Given the description of an element on the screen output the (x, y) to click on. 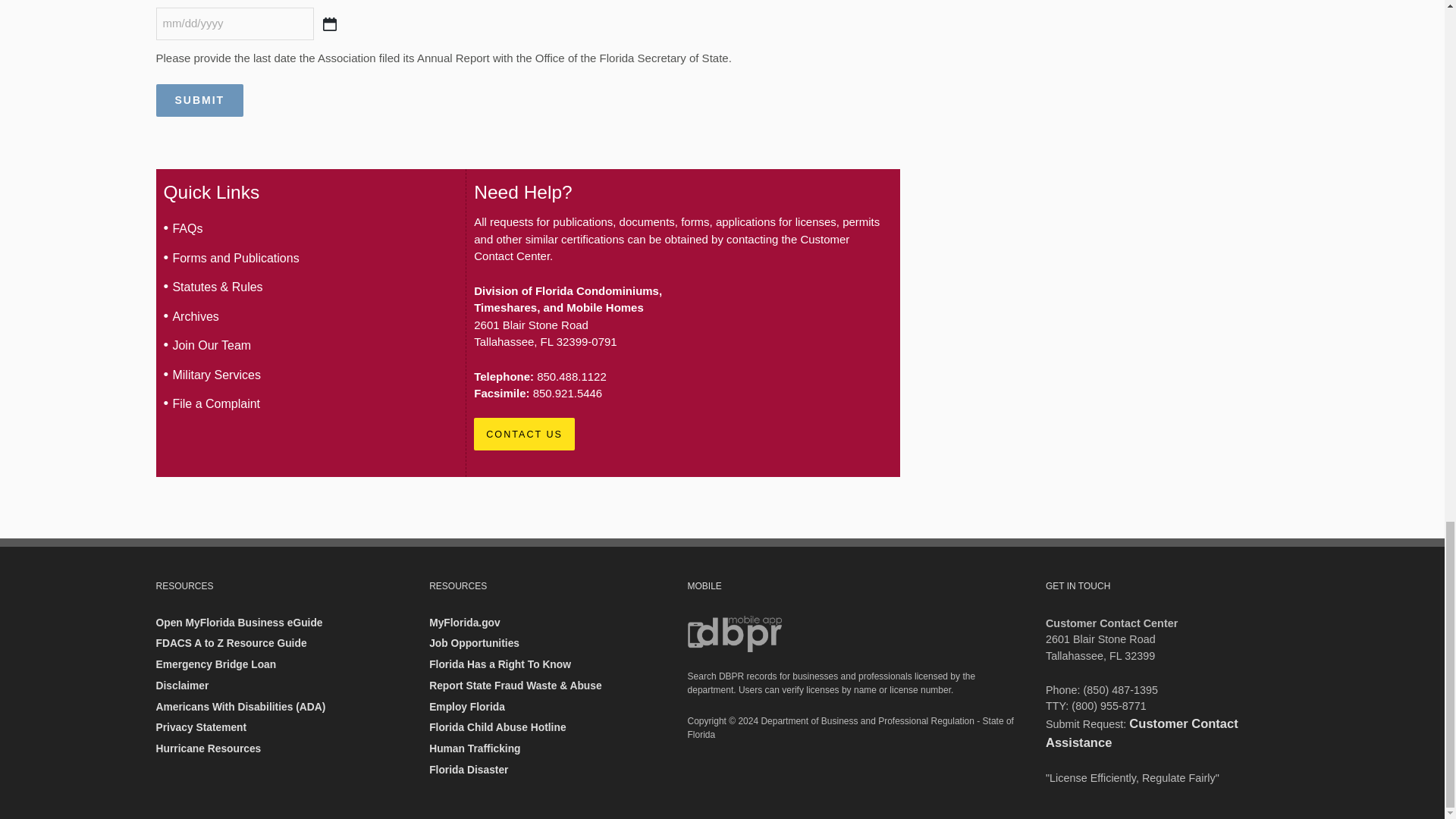
Submit (199, 100)
